Given the description of an element on the screen output the (x, y) to click on. 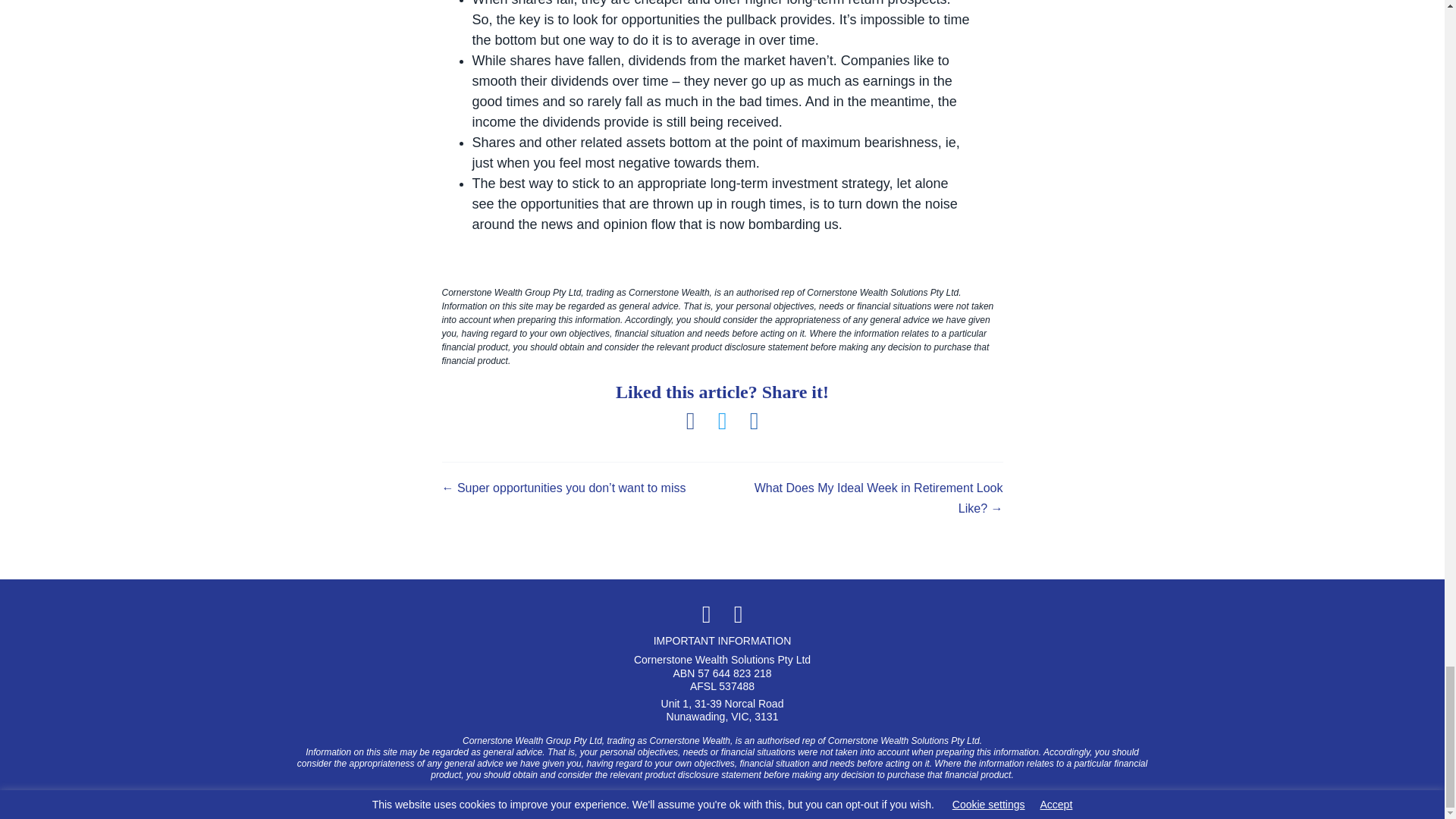
IMPORTANT INFORMATION (722, 639)
